Given the description of an element on the screen output the (x, y) to click on. 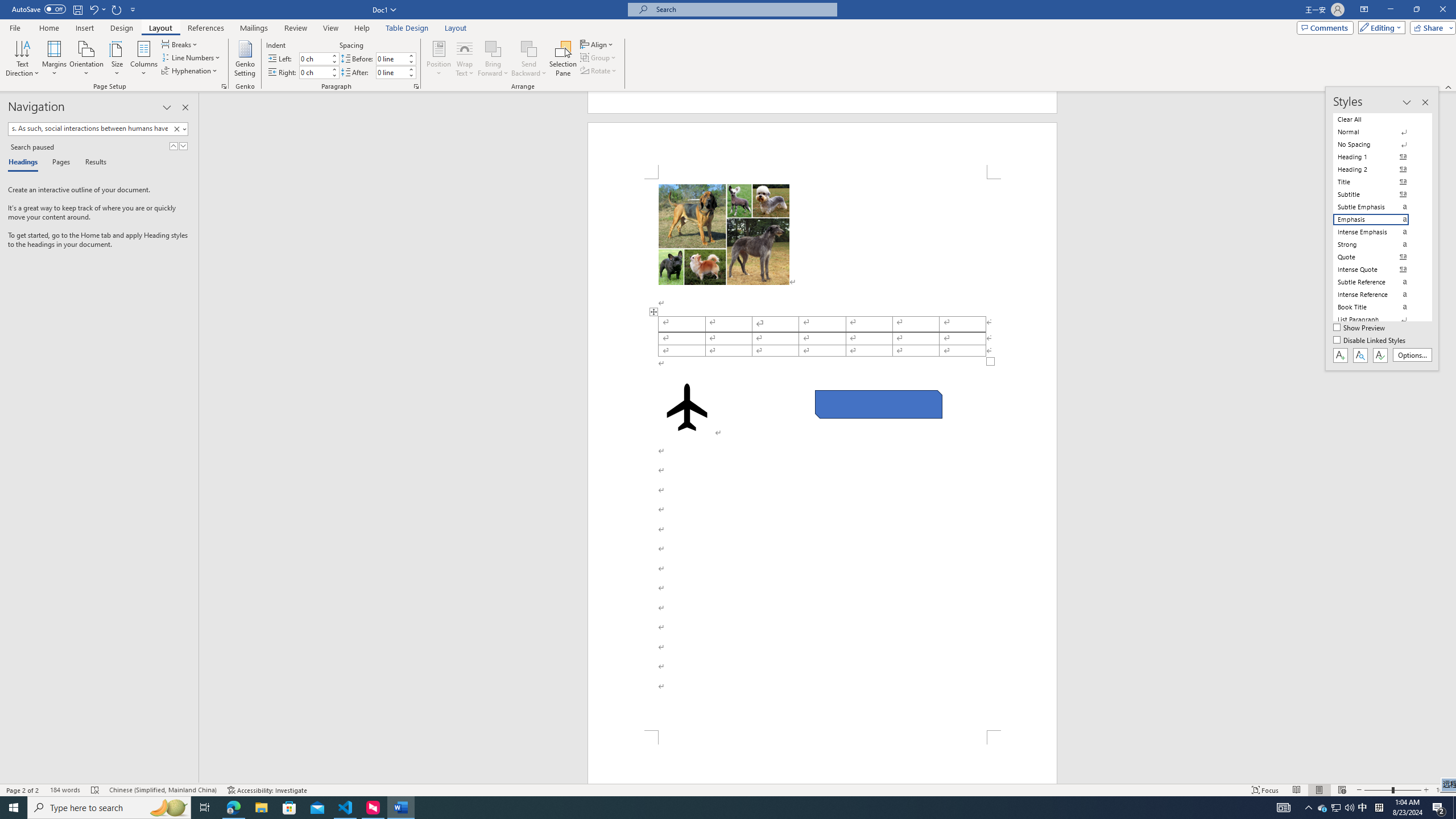
Subtle Emphasis (1377, 206)
Next Result (183, 145)
Class: NetUIButton (1380, 355)
Page Setup... (223, 85)
Spacing Before (391, 58)
Position (438, 58)
